Given the description of an element on the screen output the (x, y) to click on. 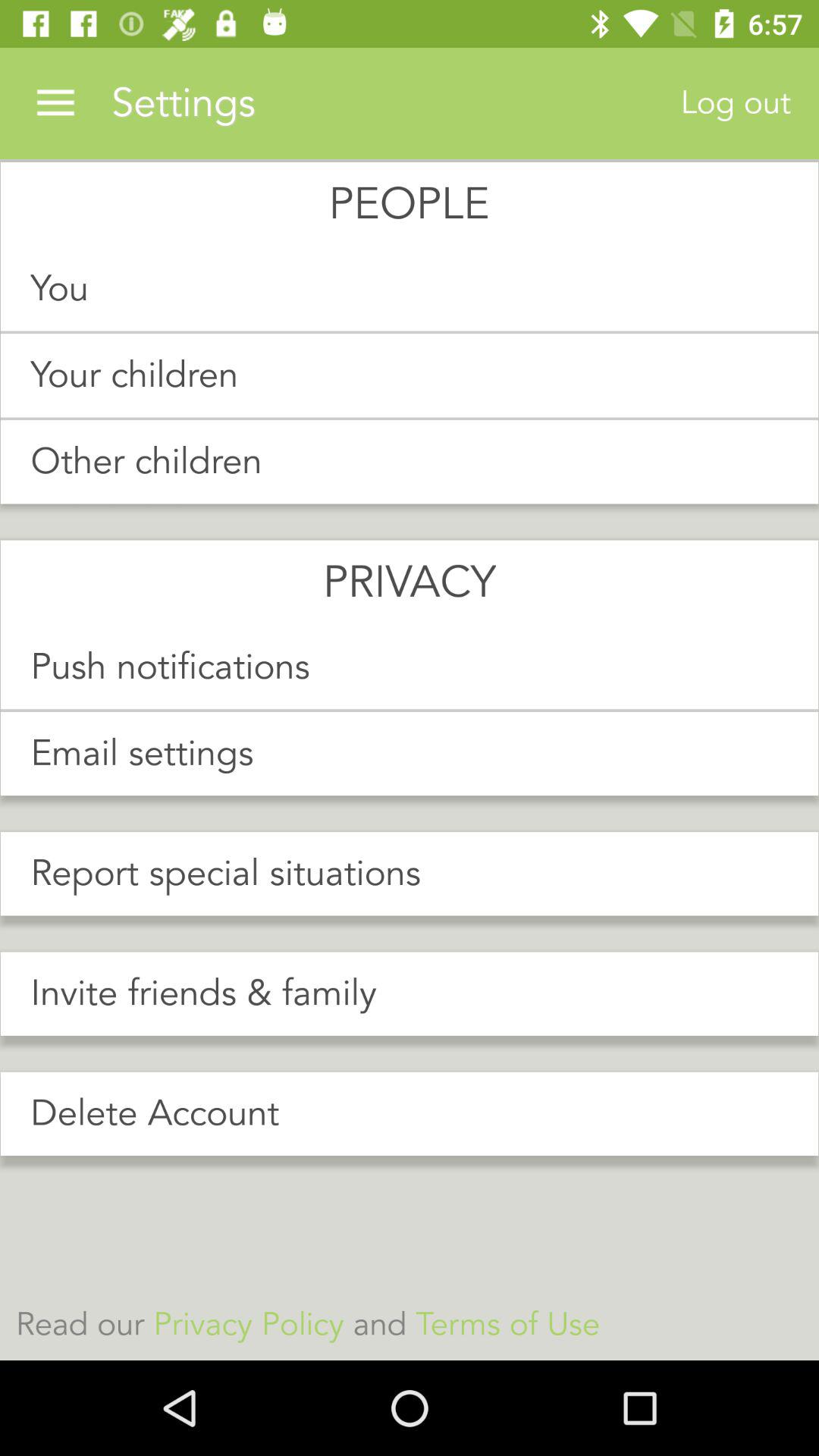
turn off the log out item (735, 102)
